Given the description of an element on the screen output the (x, y) to click on. 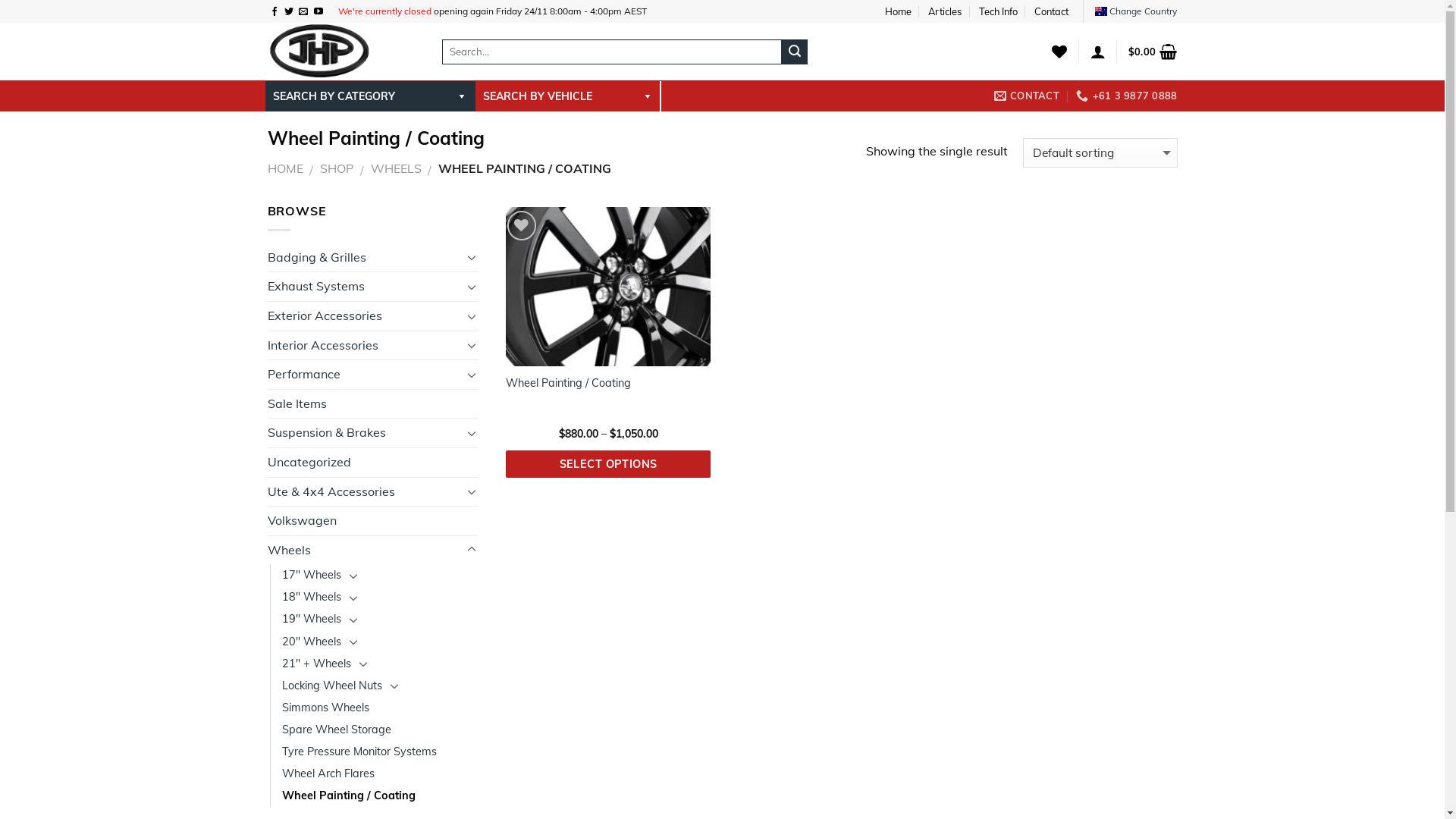
Tyre Pressure Monitor Systems Element type: text (359, 751)
Wheel Painting / Coating Element type: text (348, 795)
Locking Wheel Nuts Element type: text (332, 685)
Performance Element type: text (363, 374)
17" Wheels Element type: text (311, 575)
Badging & Grilles Element type: text (363, 257)
+61 3 9877 0888 Element type: text (1126, 95)
Contact Element type: text (1051, 11)
SELECT OPTIONS Element type: text (608, 464)
Wheels Element type: text (363, 550)
CONTACT Element type: text (1026, 95)
Tech Info Element type: text (998, 11)
Uncategorized Element type: text (371, 462)
Home Element type: text (897, 11)
Sale Items Element type: text (371, 403)
Suspension & Brakes Element type: text (363, 432)
Interior Accessories Element type: text (363, 345)
Simmons Wheels Element type: text (325, 707)
SEARCH BY CATEGORY Element type: text (370, 96)
HOME Element type: text (284, 167)
WHEELS Element type: text (395, 167)
SEARCH BY VEHICLE Element type: text (566, 96)
Exterior Accessories Element type: text (363, 315)
21" + Wheels Element type: text (316, 663)
18" Wheels Element type: text (311, 597)
Articles Element type: text (944, 11)
Spare Wheel Storage Element type: text (336, 729)
19" Wheels Element type: text (311, 619)
20" Wheels Element type: text (311, 641)
SHOP Element type: text (336, 167)
Exhaust Systems Element type: text (363, 286)
Wheel Painting / Coating Element type: text (567, 383)
$0.00 Element type: text (1152, 51)
Ute & 4x4 Accessories Element type: text (363, 491)
Volkswagen Element type: text (371, 520)
Change Country Element type: text (1135, 10)
Wheel Arch Flares Element type: text (328, 773)
